Given the description of an element on the screen output the (x, y) to click on. 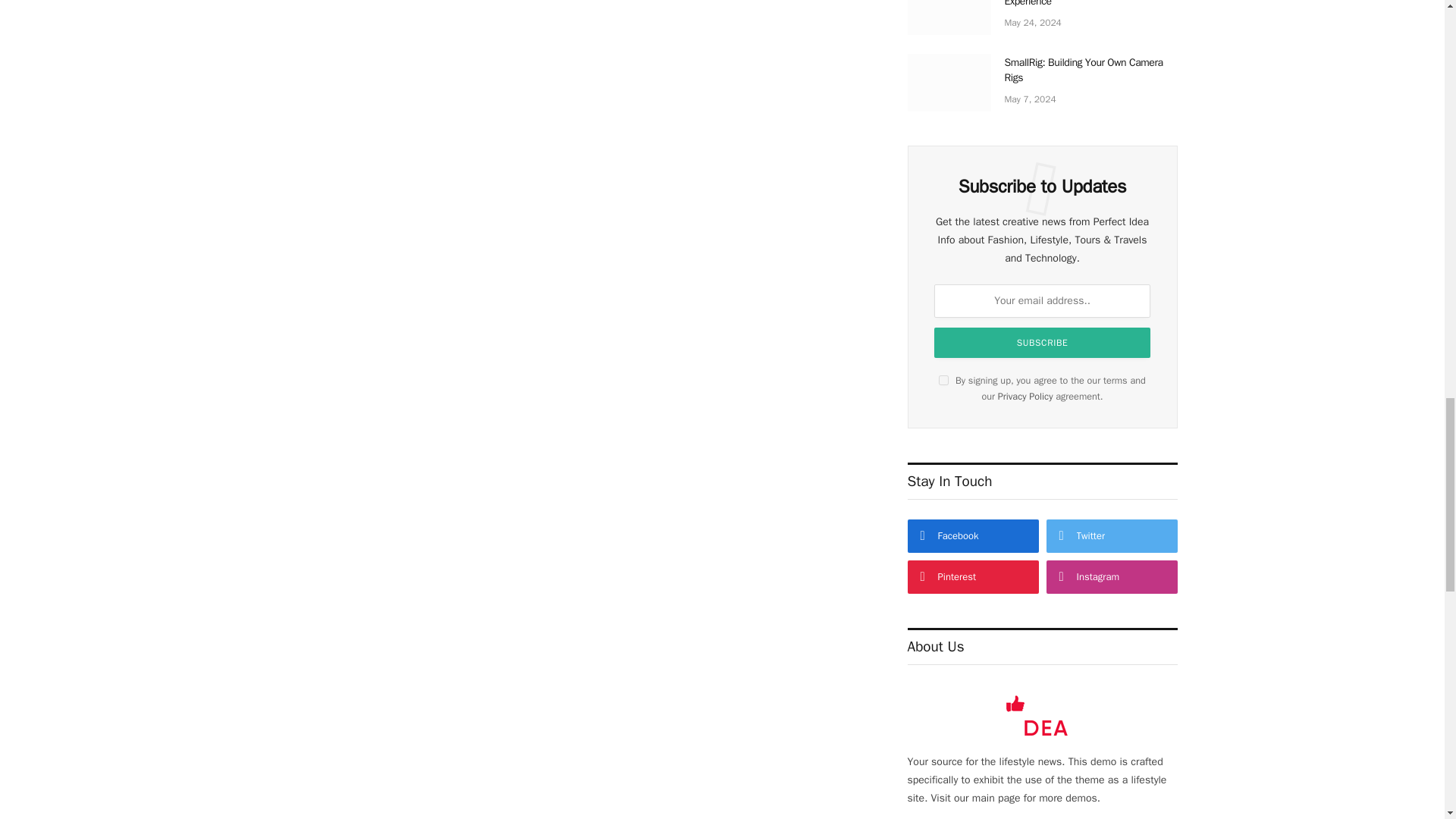
Codashop: Elevate Your Gaming Experience (948, 17)
SmallRig: Building Your Own Camera Rigs (948, 82)
Subscribe (1042, 342)
on (944, 379)
